Given the description of an element on the screen output the (x, y) to click on. 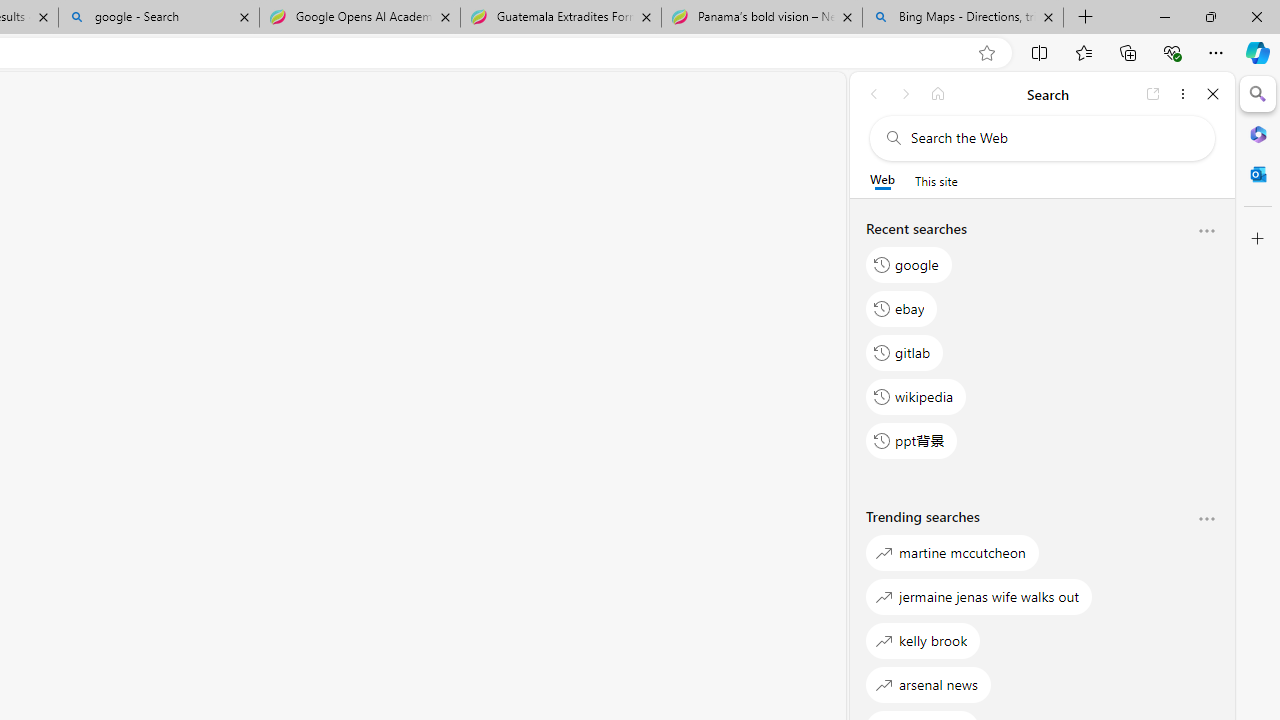
martine mccutcheon (952, 552)
arsenal news (928, 684)
